Given the description of an element on the screen output the (x, y) to click on. 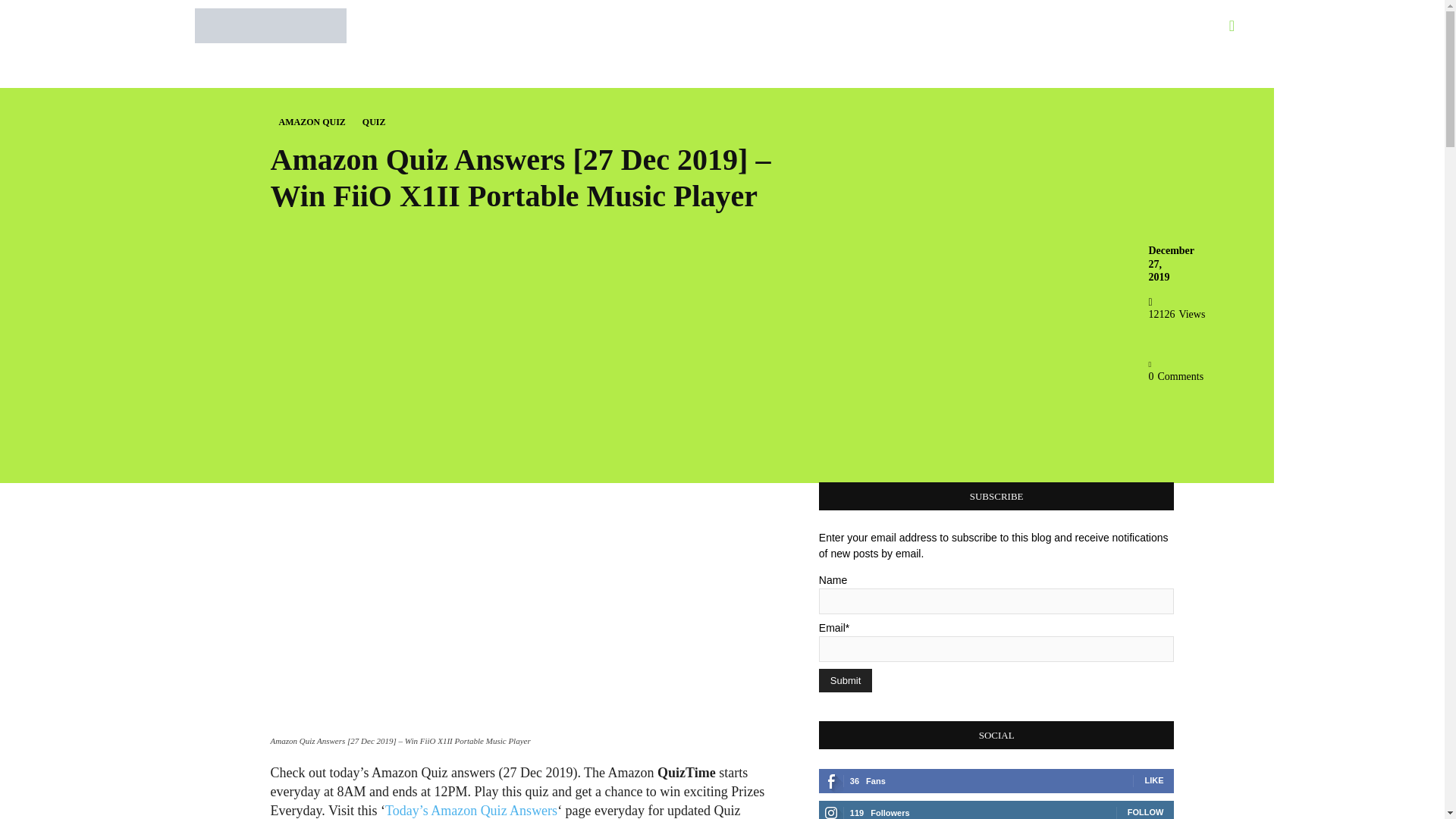
0Comments (1176, 369)
AMAZON QUIZ (312, 122)
QUIZ (374, 122)
Submit (845, 680)
